Given the description of an element on the screen output the (x, y) to click on. 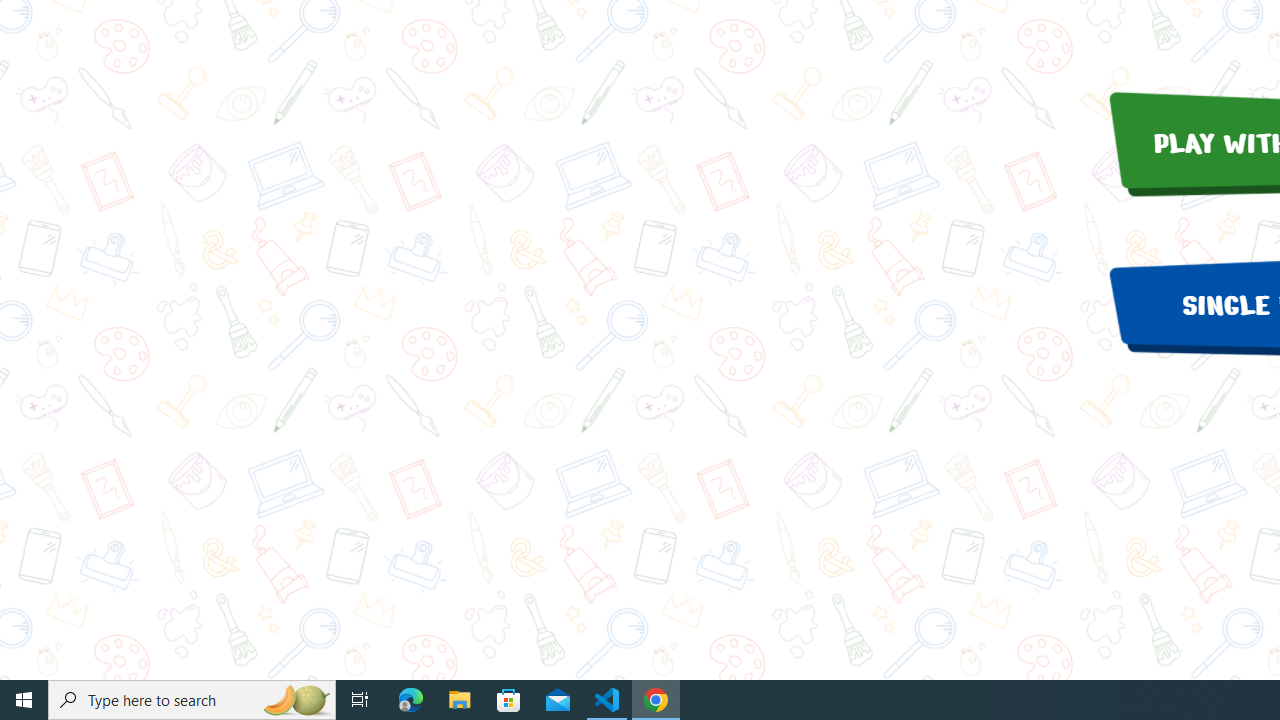
Microsoft Edge (411, 699)
Visual Studio Code - 1 running window (607, 699)
Start (24, 699)
Google Chrome - 1 running window (656, 699)
File Explorer (460, 699)
Type here to search (191, 699)
Task View (359, 699)
Search highlights icon opens search home window (295, 699)
Microsoft Store (509, 699)
